Given the description of an element on the screen output the (x, y) to click on. 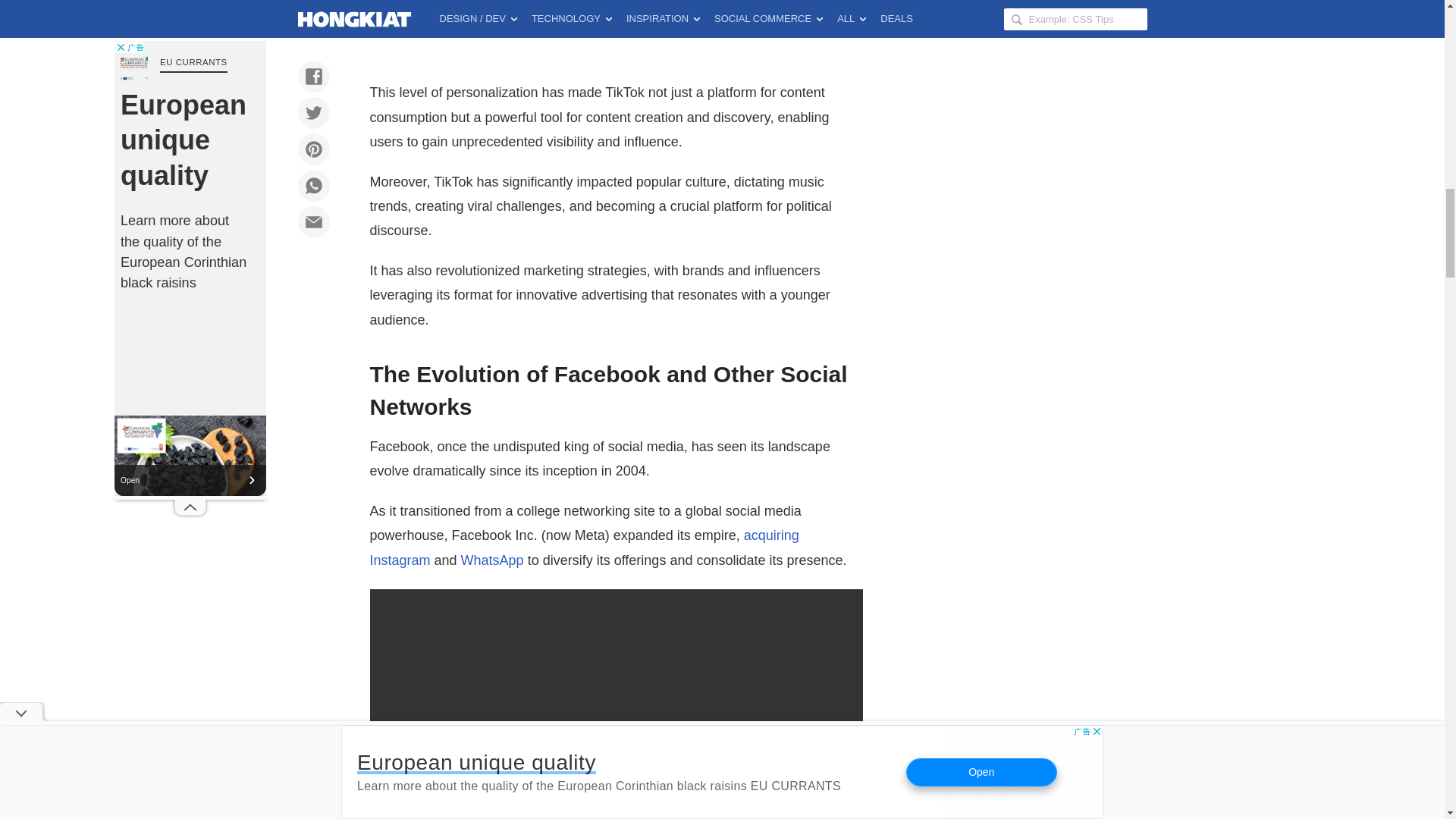
WhatsApp (492, 560)
acquiring Instagram (584, 547)
